Given the description of an element on the screen output the (x, y) to click on. 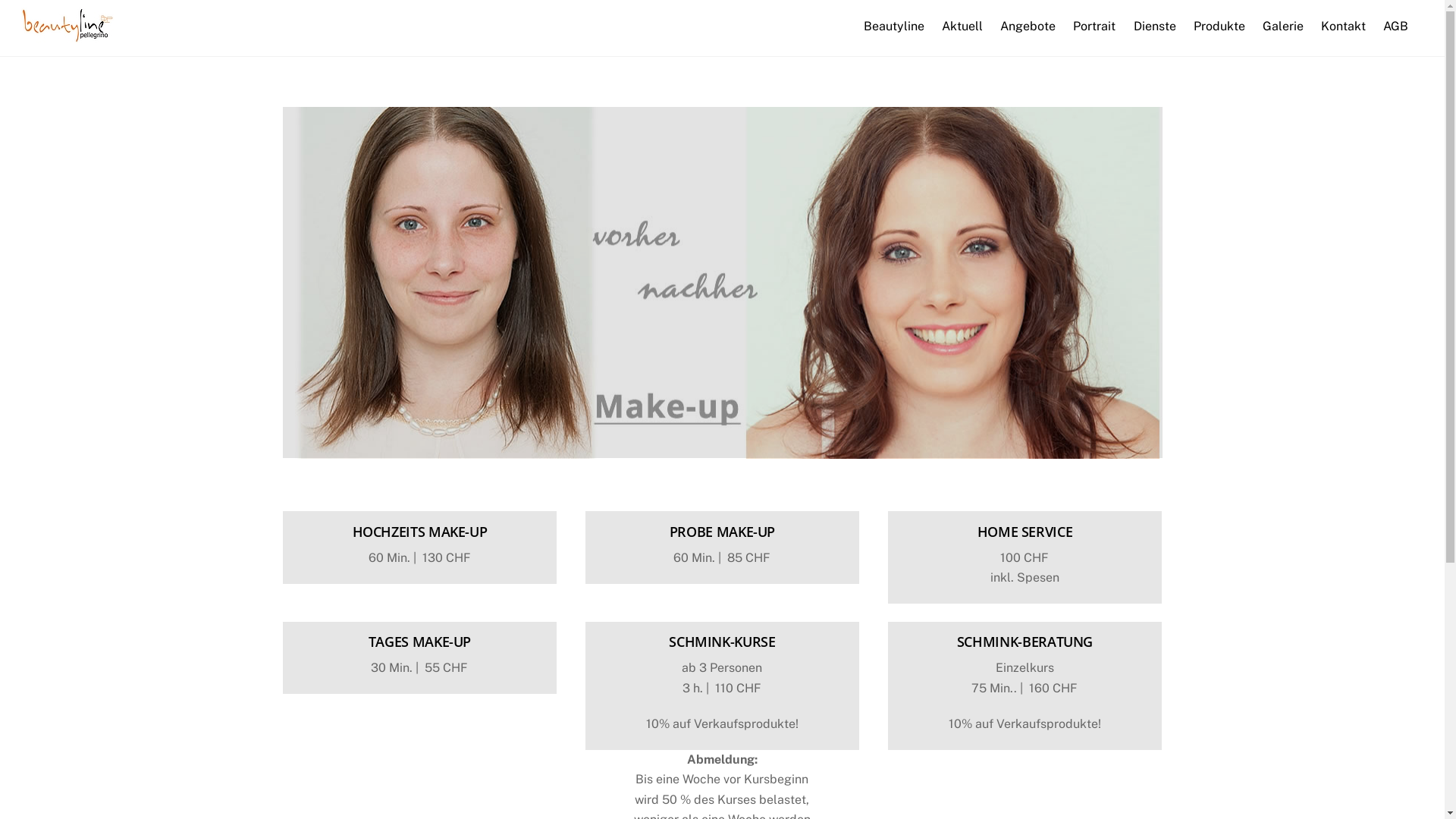
Produkte Element type: text (1219, 26)
LogoPellegrino47px Element type: hover (67, 25)
Aktuell Element type: text (961, 26)
Kontakt Element type: text (1343, 26)
AGB Element type: text (1395, 26)
beautyline Element type: hover (67, 35)
Portrait Element type: text (1094, 26)
Beautyline Element type: text (893, 26)
Angebote Element type: text (1028, 26)
Galerie Element type: text (1282, 26)
Dienste Element type: text (1154, 26)
